Given the description of an element on the screen output the (x, y) to click on. 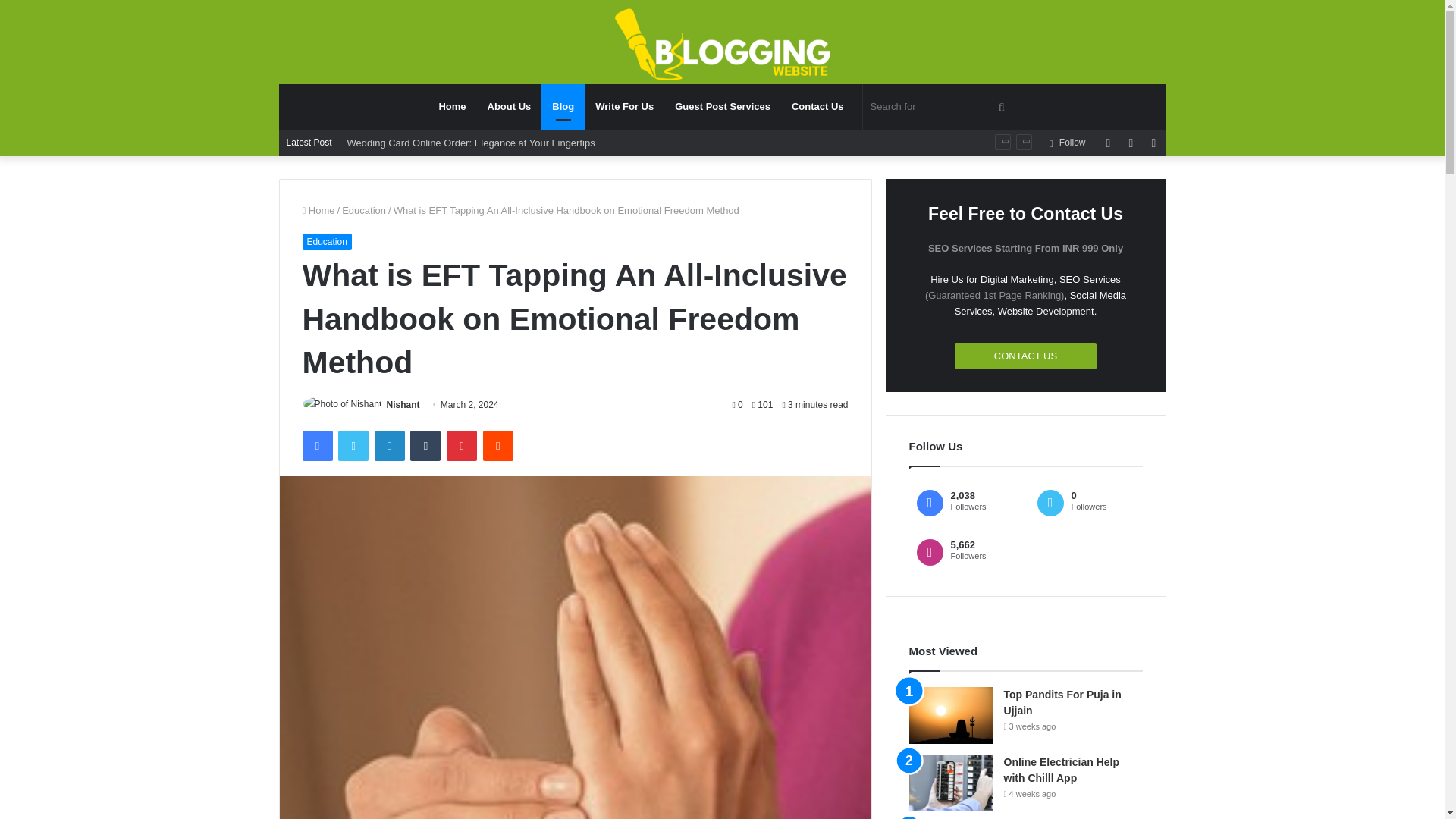
Pinterest (461, 445)
Write For Us (624, 106)
Follow (1067, 142)
Best Blogging Website (722, 45)
Home (317, 210)
Blog (563, 106)
Education (363, 210)
Facebook (316, 445)
About Us (509, 106)
Reddit (498, 445)
Tumblr (425, 445)
LinkedIn (389, 445)
Nishant (403, 404)
Education (325, 241)
Wedding Card Online Order: Elegance at Your Fingertips (471, 142)
